Given the description of an element on the screen output the (x, y) to click on. 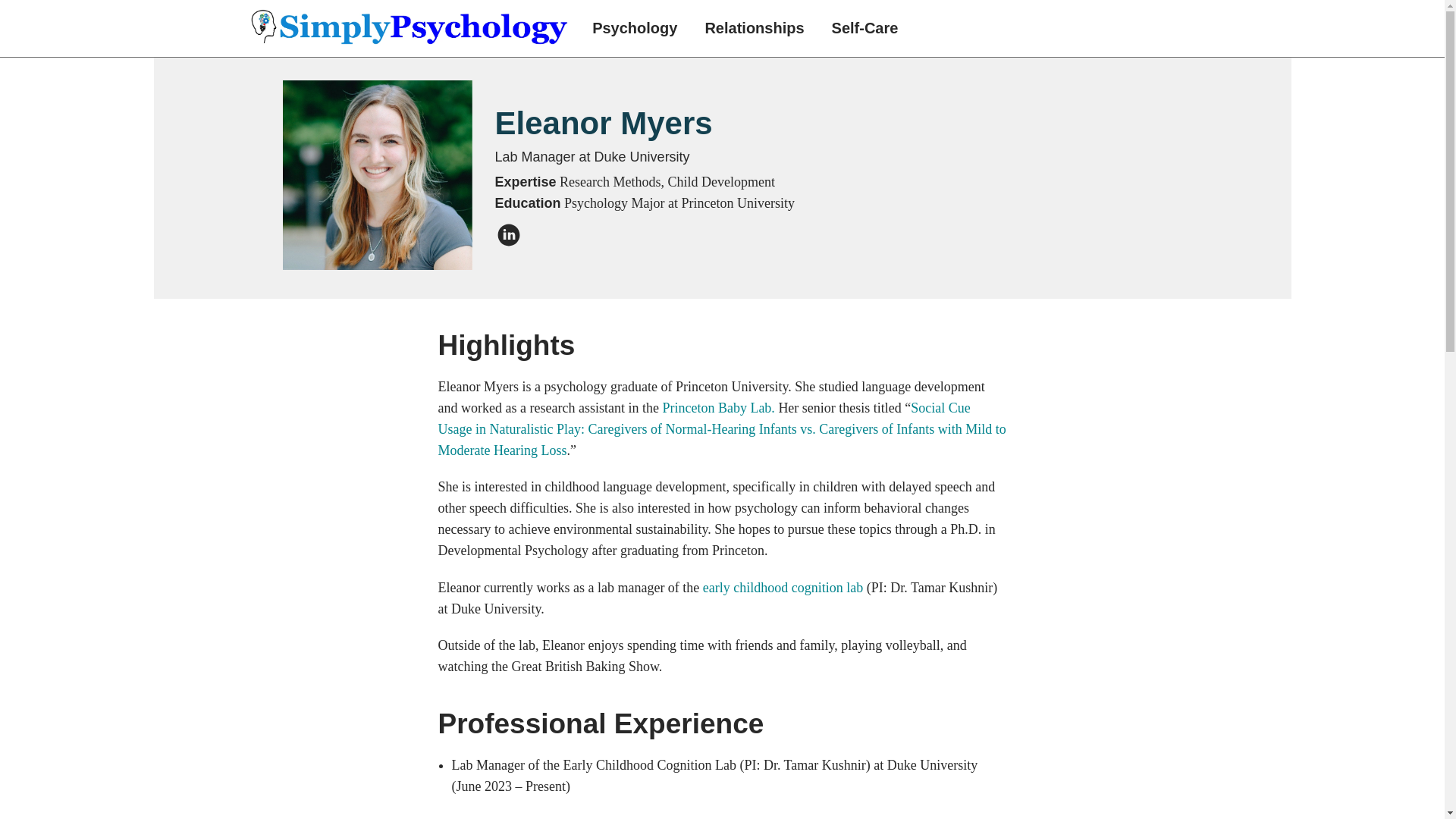
Simply Psychology (410, 28)
Relationships (753, 28)
early childhood cognition lab (783, 587)
Psychology (634, 28)
Self-Care (865, 28)
Princeton Baby Lab. (719, 407)
